Given the description of an element on the screen output the (x, y) to click on. 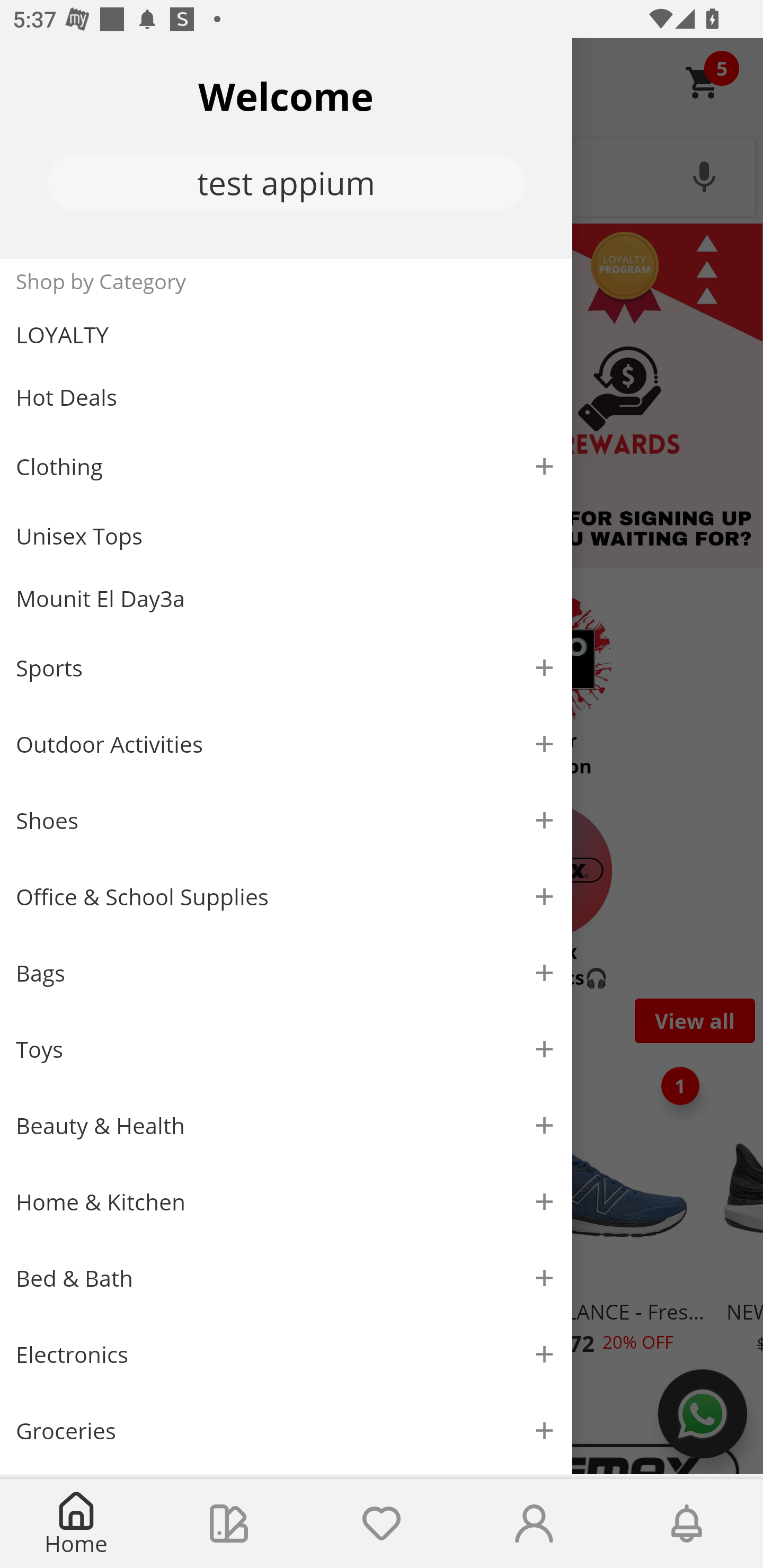
Welcome test appium (286, 147)
LOYALTY (286, 334)
Hot Deals (286, 396)
Clothing (286, 466)
Unisex Tops (286, 535)
Mounit El Day3a (286, 598)
Sports (286, 667)
Outdoor Activities (286, 743)
Shoes (286, 820)
Office & School Supplies (286, 896)
Bags (286, 972)
Toys (286, 1049)
Beauty & Health (286, 1125)
Home & Kitchen (286, 1201)
Bed & Bath (286, 1278)
Electronics (286, 1354)
Groceries (286, 1430)
Collections (228, 1523)
Wishlist (381, 1523)
Account (533, 1523)
Notifications (686, 1523)
